Given the description of an element on the screen output the (x, y) to click on. 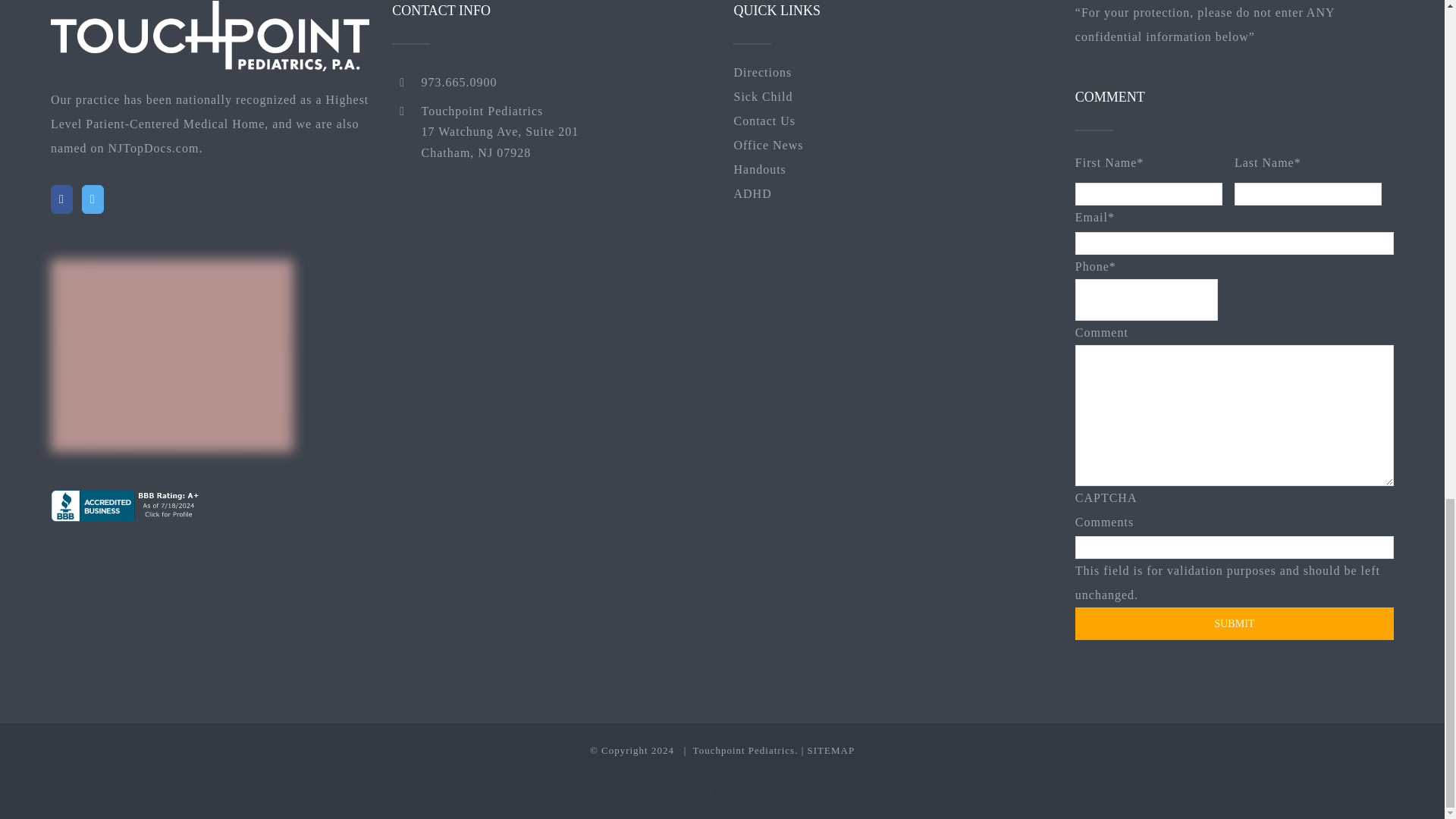
Submit (1234, 623)
